Given the description of an element on the screen output the (x, y) to click on. 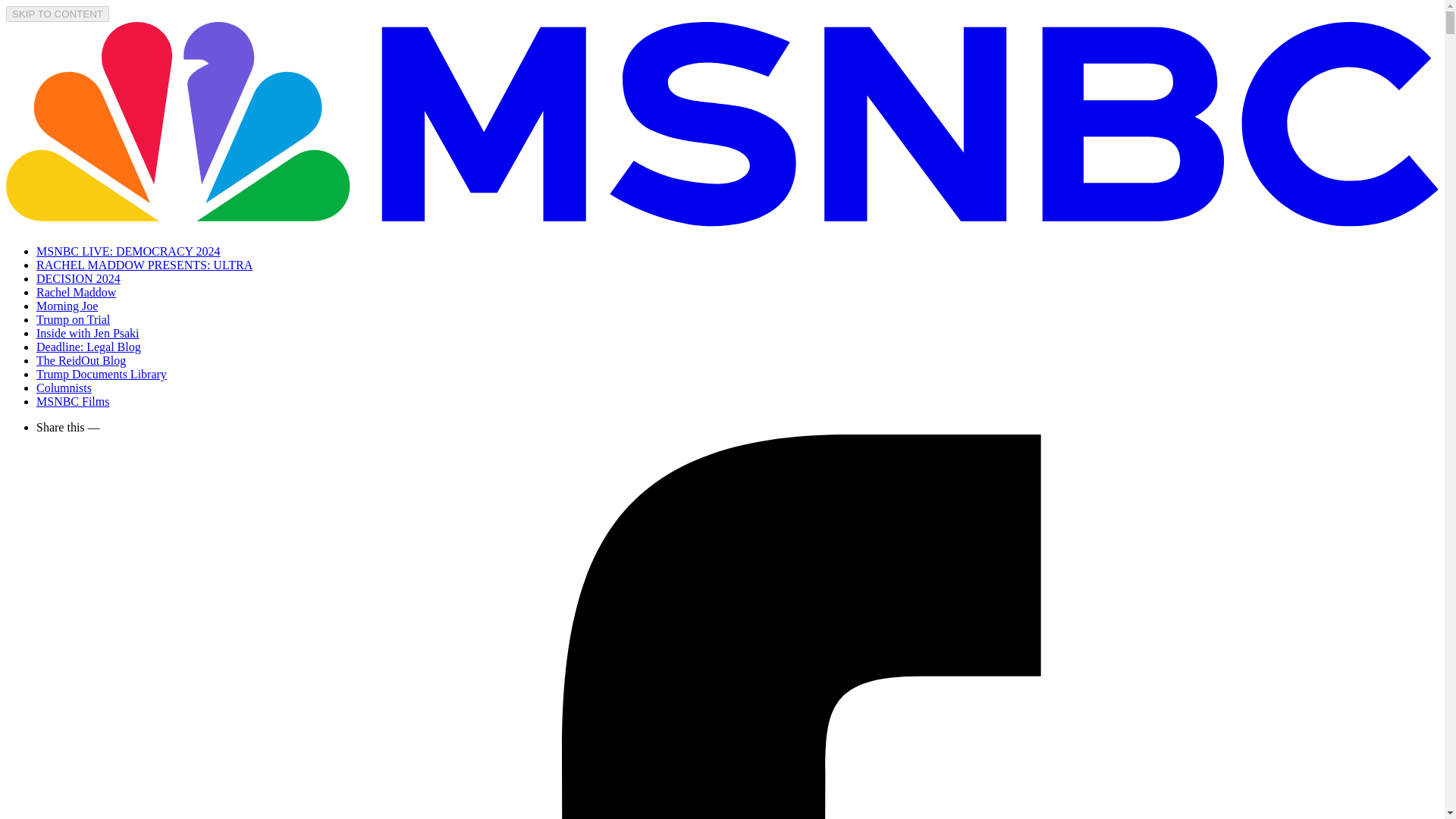
MSNBC Films (72, 400)
Deadline: Legal Blog (88, 346)
Rachel Maddow (76, 291)
Columnists (63, 387)
SKIP TO CONTENT (57, 13)
DECISION 2024 (78, 278)
RACHEL MADDOW PRESENTS: ULTRA (143, 264)
Inside with Jen Psaki (87, 332)
Morning Joe (66, 305)
MSNBC LIVE: DEMOCRACY 2024 (128, 250)
Trump Documents Library (101, 373)
The ReidOut Blog (80, 359)
Trump on Trial (73, 318)
